Given the description of an element on the screen output the (x, y) to click on. 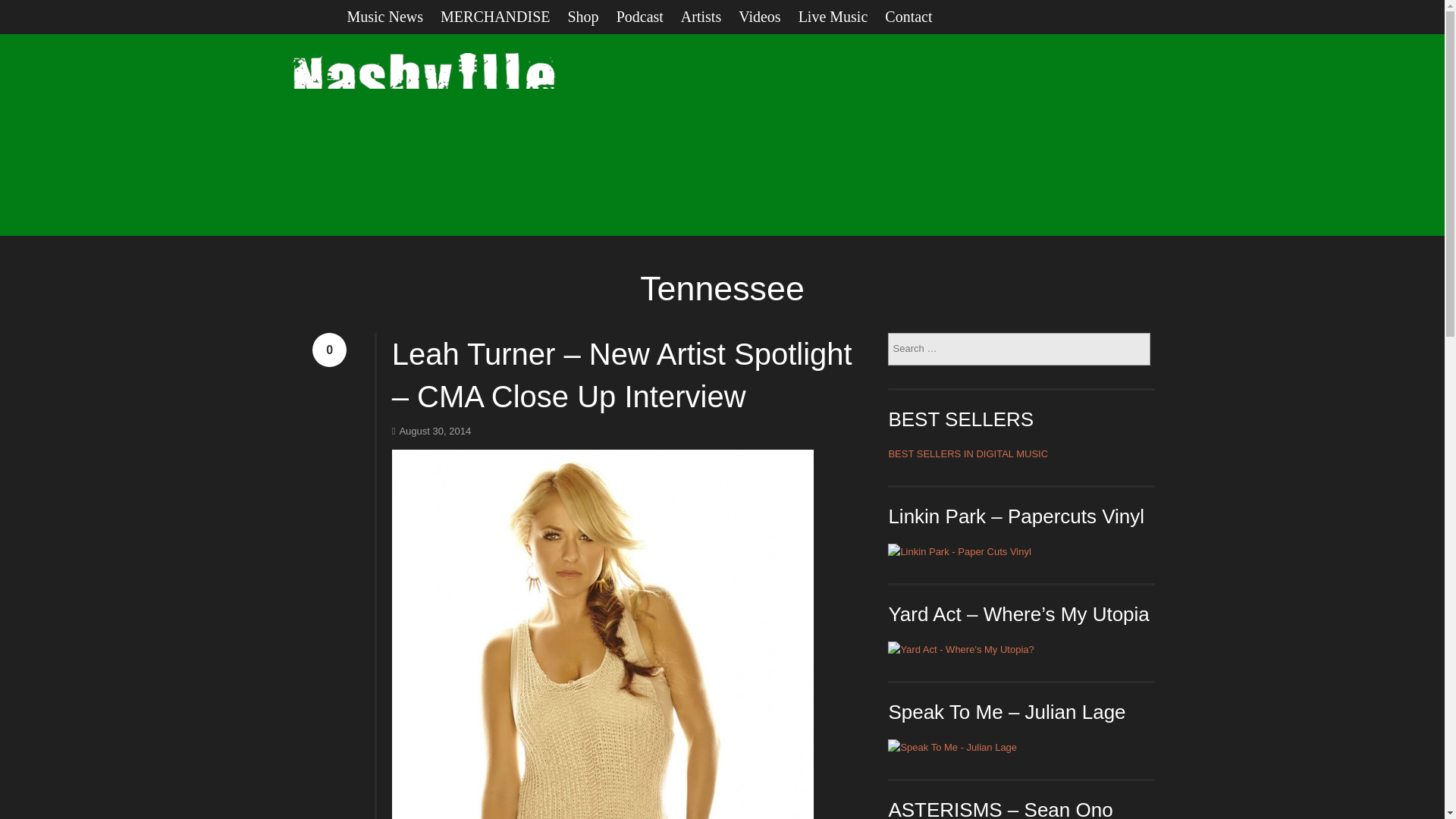
MERCHANDISE (504, 17)
Contact (917, 17)
Videos (767, 17)
Music News (394, 17)
Shop (591, 17)
August 30, 2014 (430, 430)
Podcast (648, 17)
0 (329, 349)
Live Music (841, 17)
0 (329, 349)
